Given the description of an element on the screen output the (x, y) to click on. 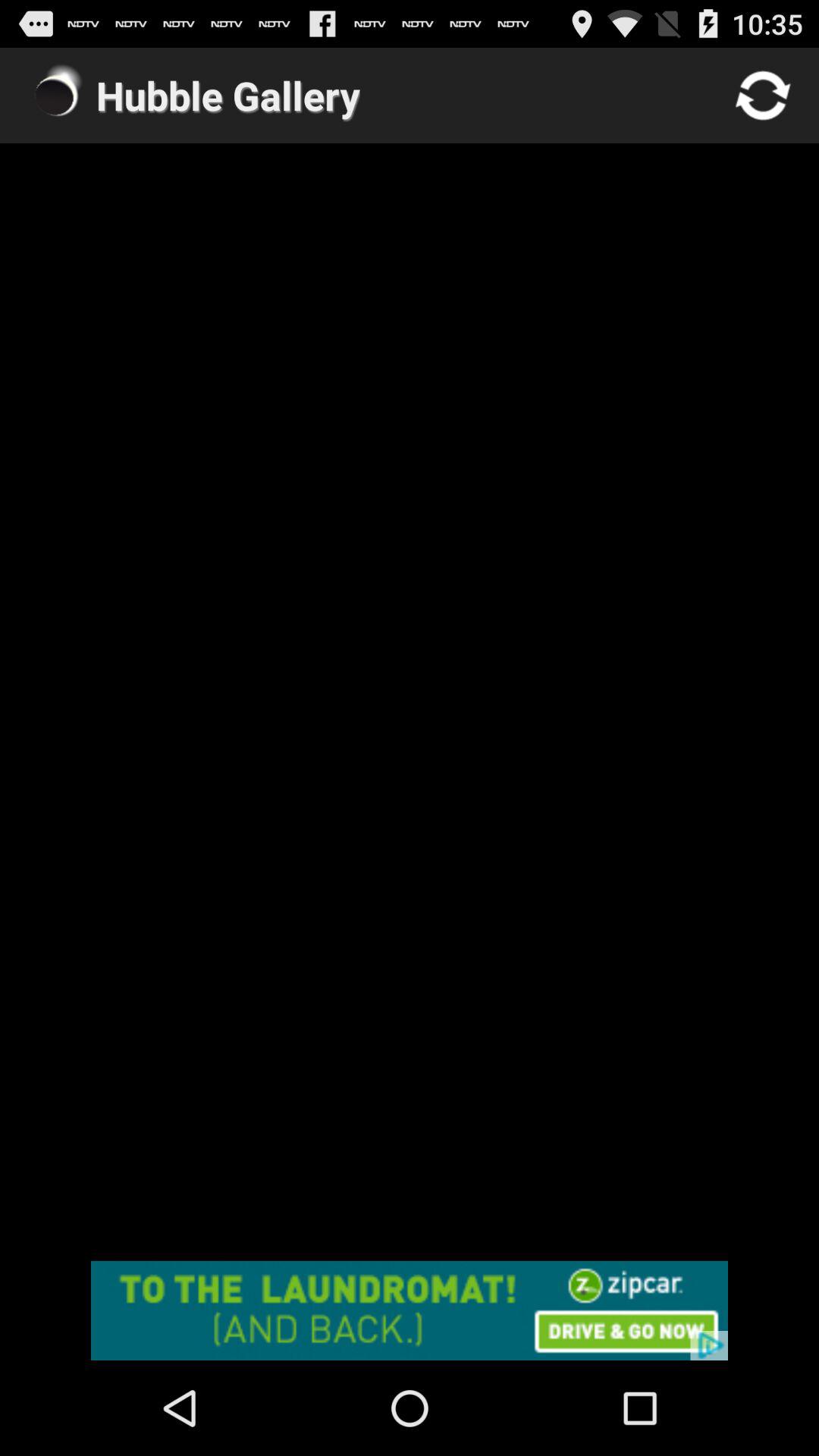
share the article (409, 1310)
